Given the description of an element on the screen output the (x, y) to click on. 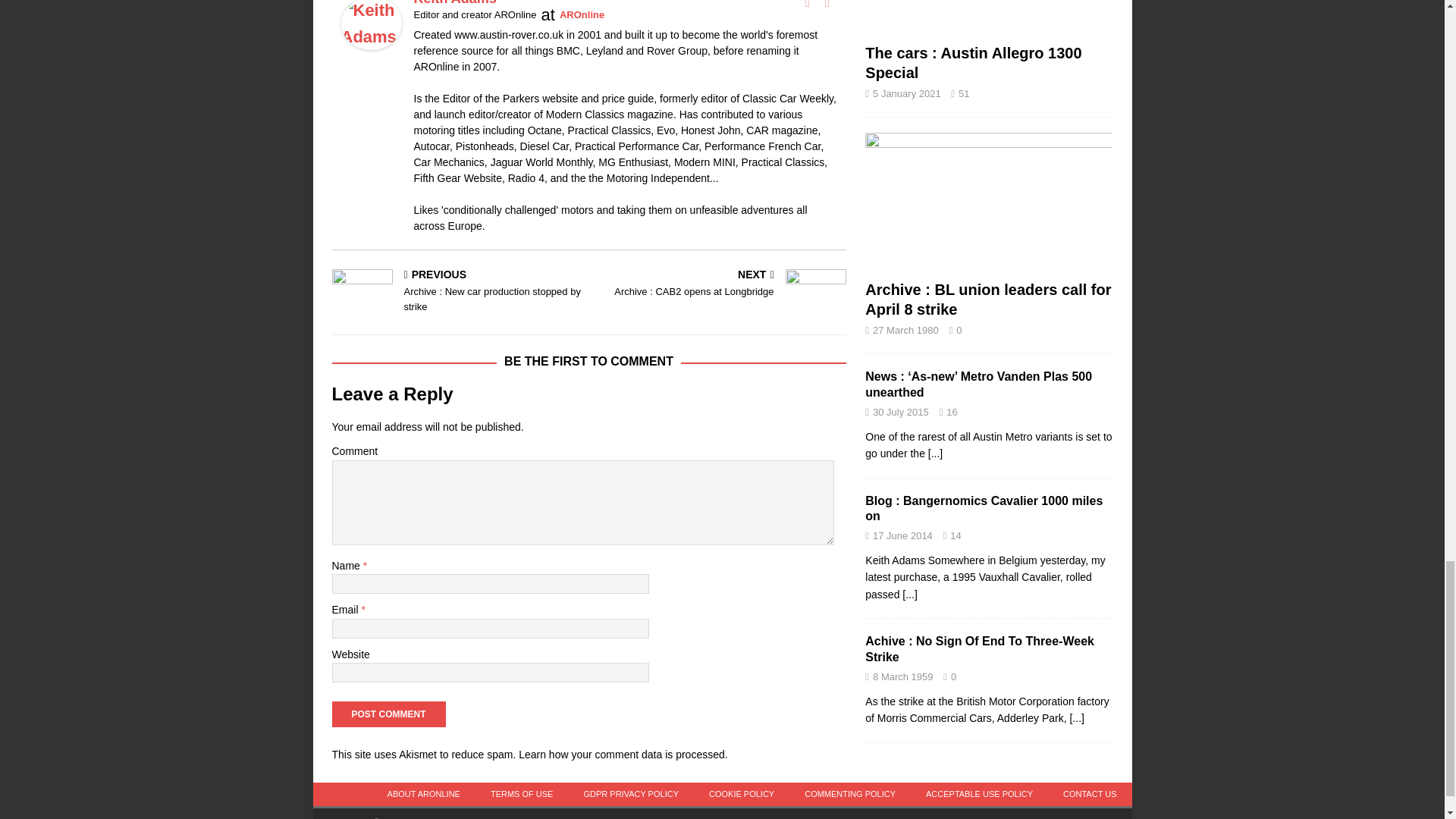
Keith Adams (370, 36)
Post Comment (388, 714)
Facebook (806, 5)
Twitter (826, 5)
